Given the description of an element on the screen output the (x, y) to click on. 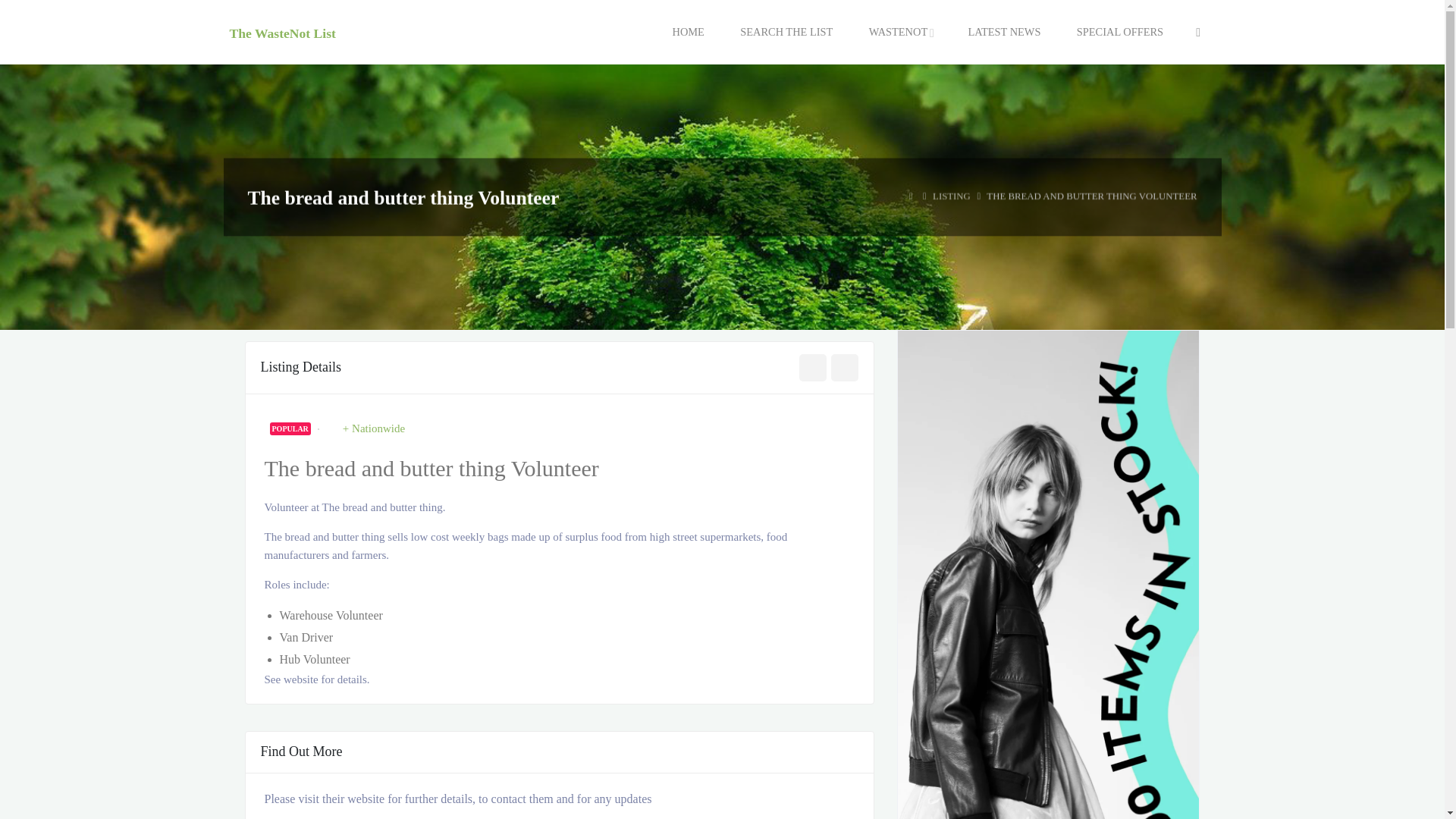
The WasteNot List (281, 32)
WASTENOT (898, 32)
SEARCH THE LIST (786, 32)
Home (910, 195)
where nothing goes to waste (281, 32)
